Given the description of an element on the screen output the (x, y) to click on. 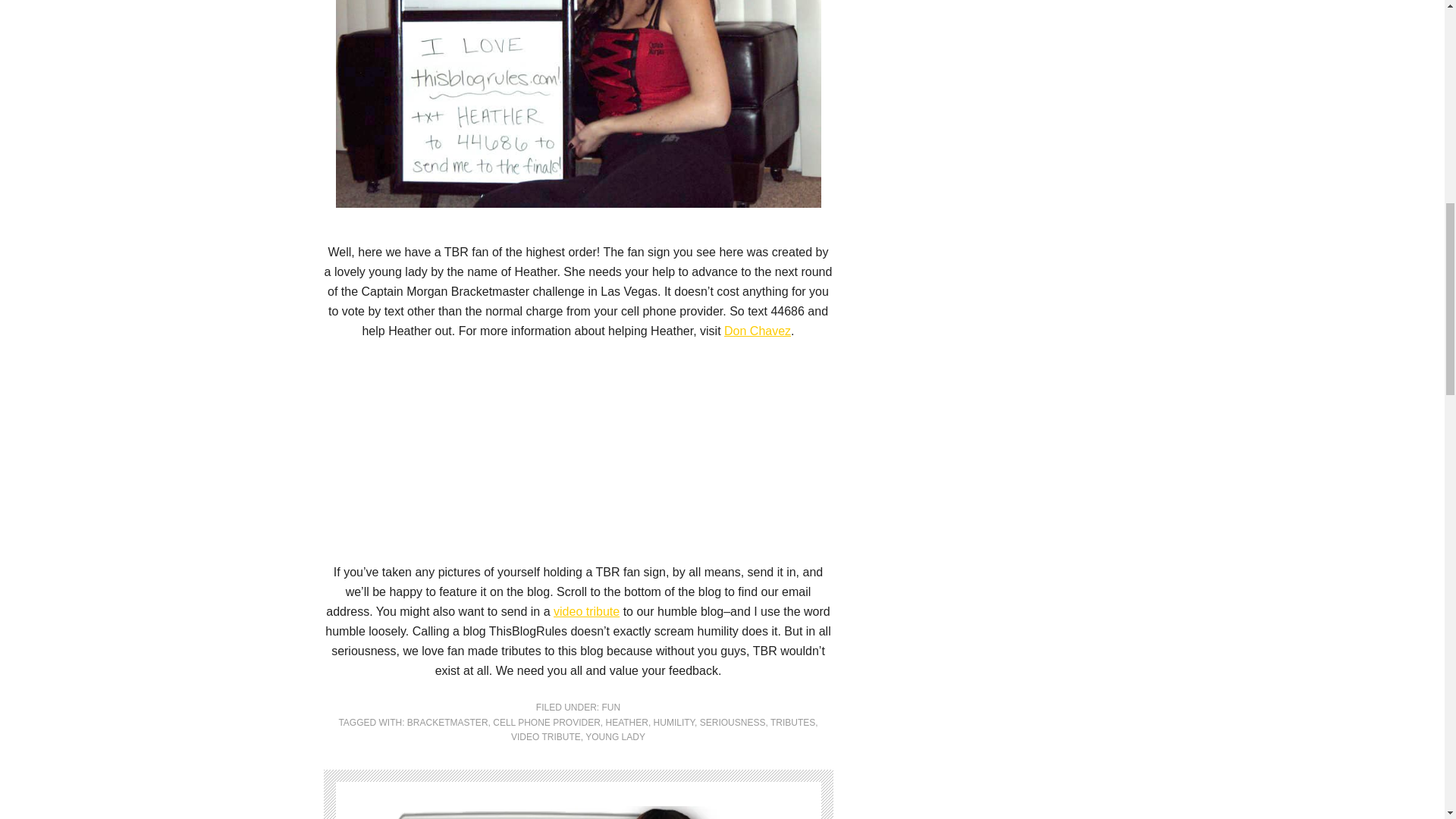
Don Chavez (756, 330)
HUMILITY (673, 722)
FUN (611, 706)
BRACKETMASTER (447, 722)
heather (577, 104)
HEATHER (626, 722)
CELL PHONE PROVIDER (546, 722)
video tribute (586, 611)
Advertisement (577, 455)
